Given the description of an element on the screen output the (x, y) to click on. 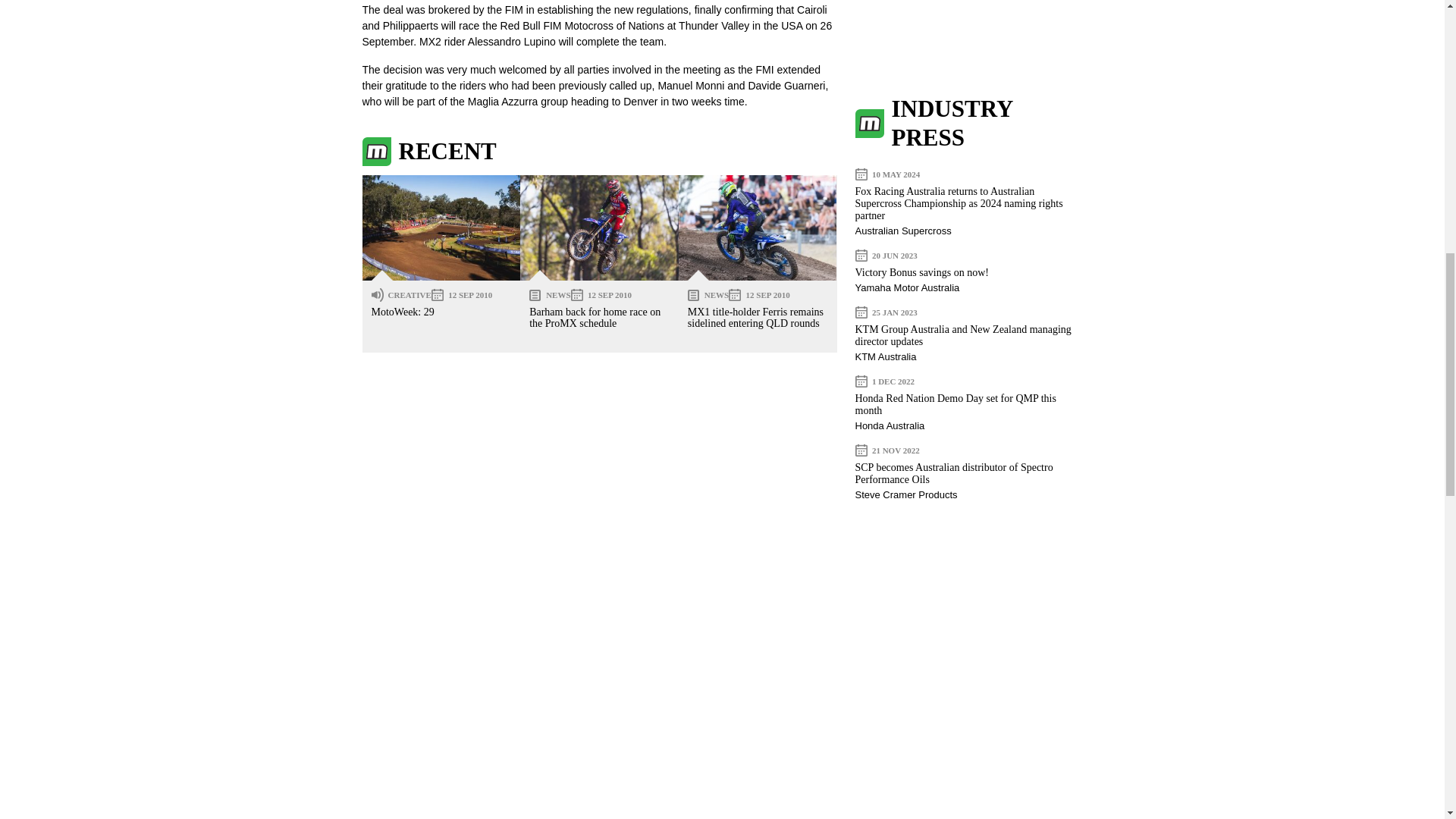
MotoWeek: 29 (402, 311)
Barham back for home race on the ProMX schedule (598, 227)
MotoWeek: 29 (441, 227)
Barham back for home race on the ProMX schedule (595, 317)
